Given the description of an element on the screen output the (x, y) to click on. 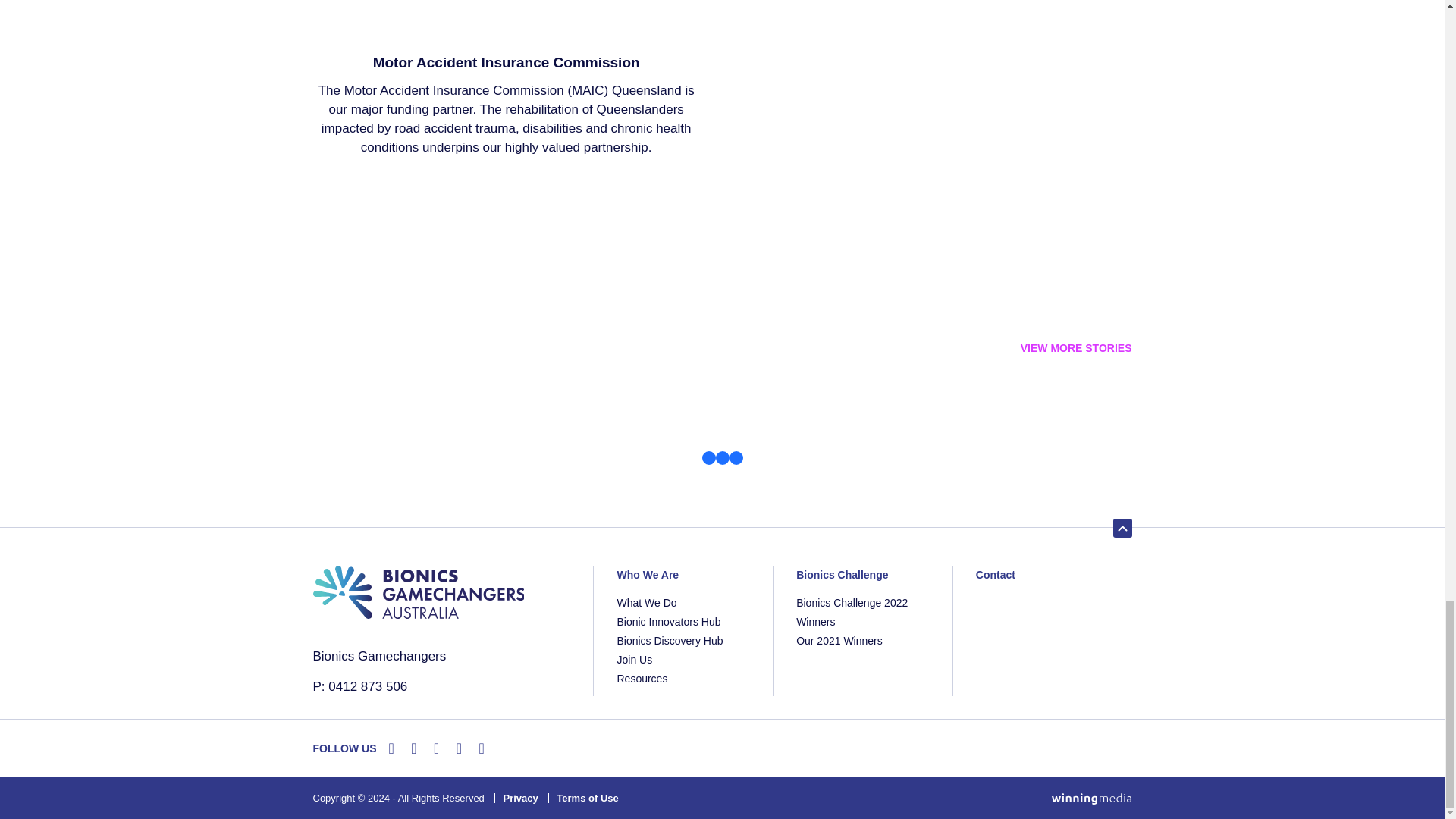
Back to top (1119, 529)
Instagram (458, 748)
Facebook (391, 748)
Back to top (1122, 527)
Twitter (414, 748)
YouTube (436, 748)
LinkedIn (481, 748)
